Given the description of an element on the screen output the (x, y) to click on. 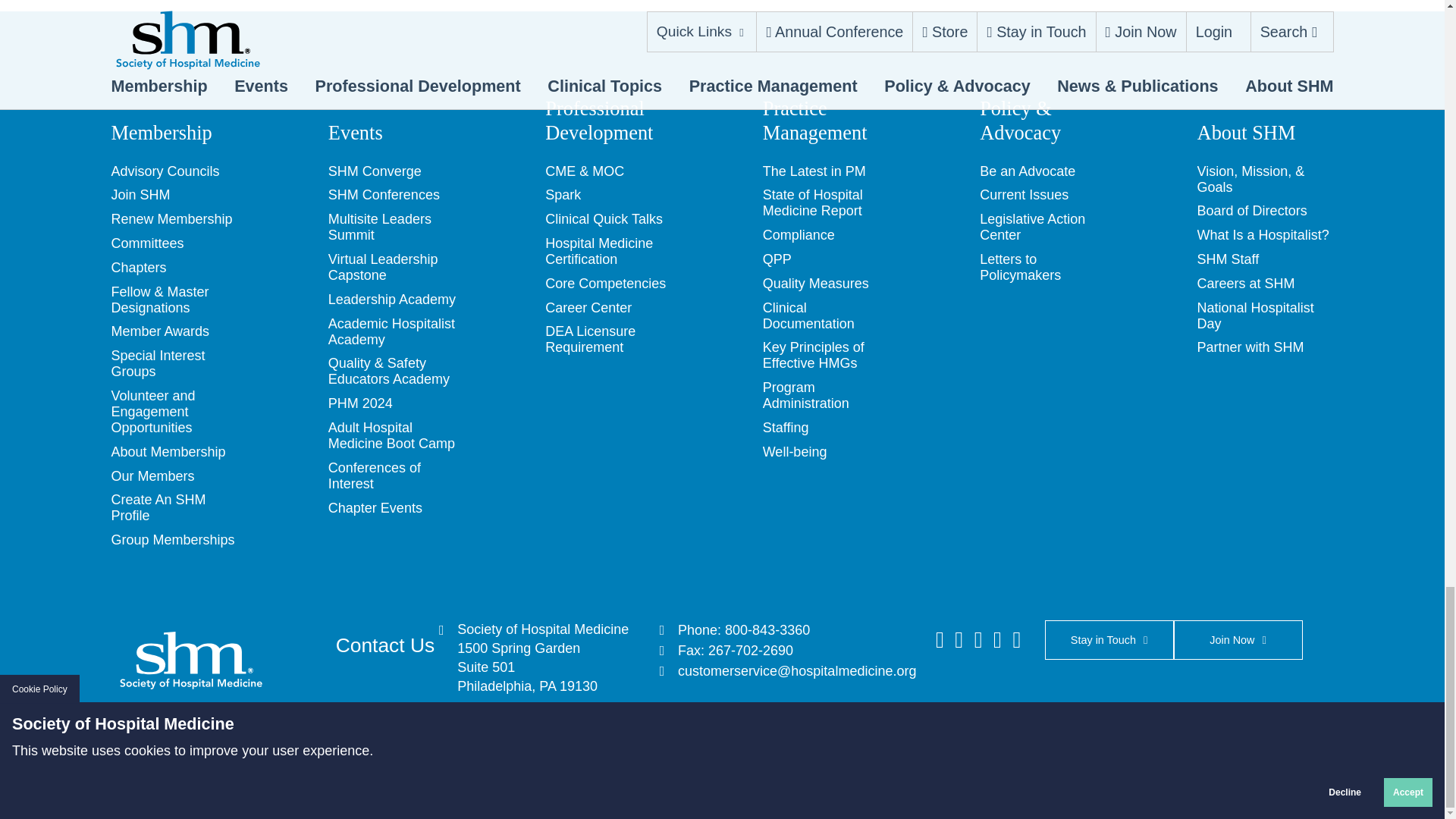
Store (256, 793)
